Given the description of an element on the screen output the (x, y) to click on. 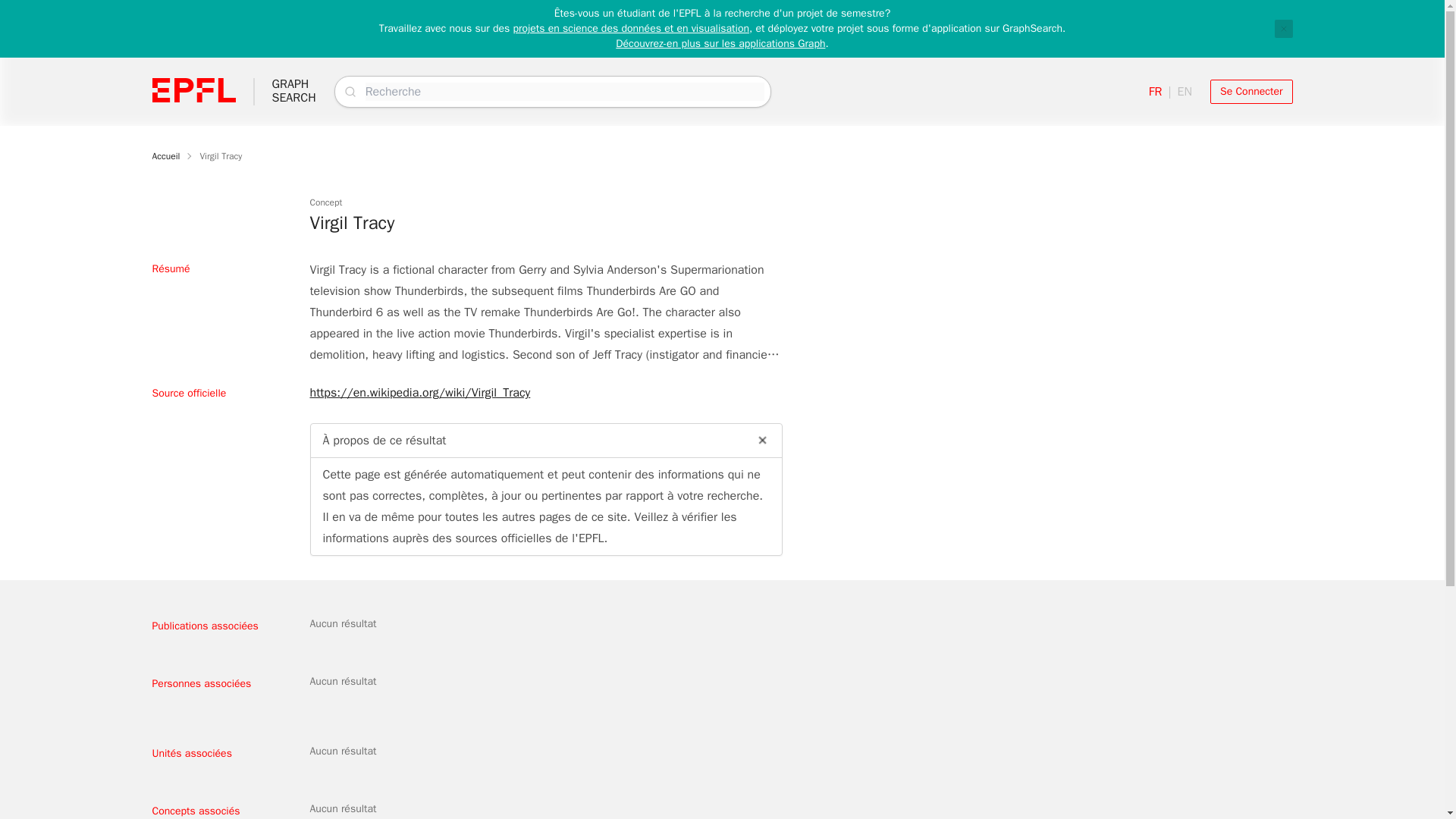
Virgil Tracy (292, 90)
Se Connecter (220, 155)
Accueil (1250, 91)
Close notification (165, 155)
EN (1283, 28)
FR (1184, 91)
